Given the description of an element on the screen output the (x, y) to click on. 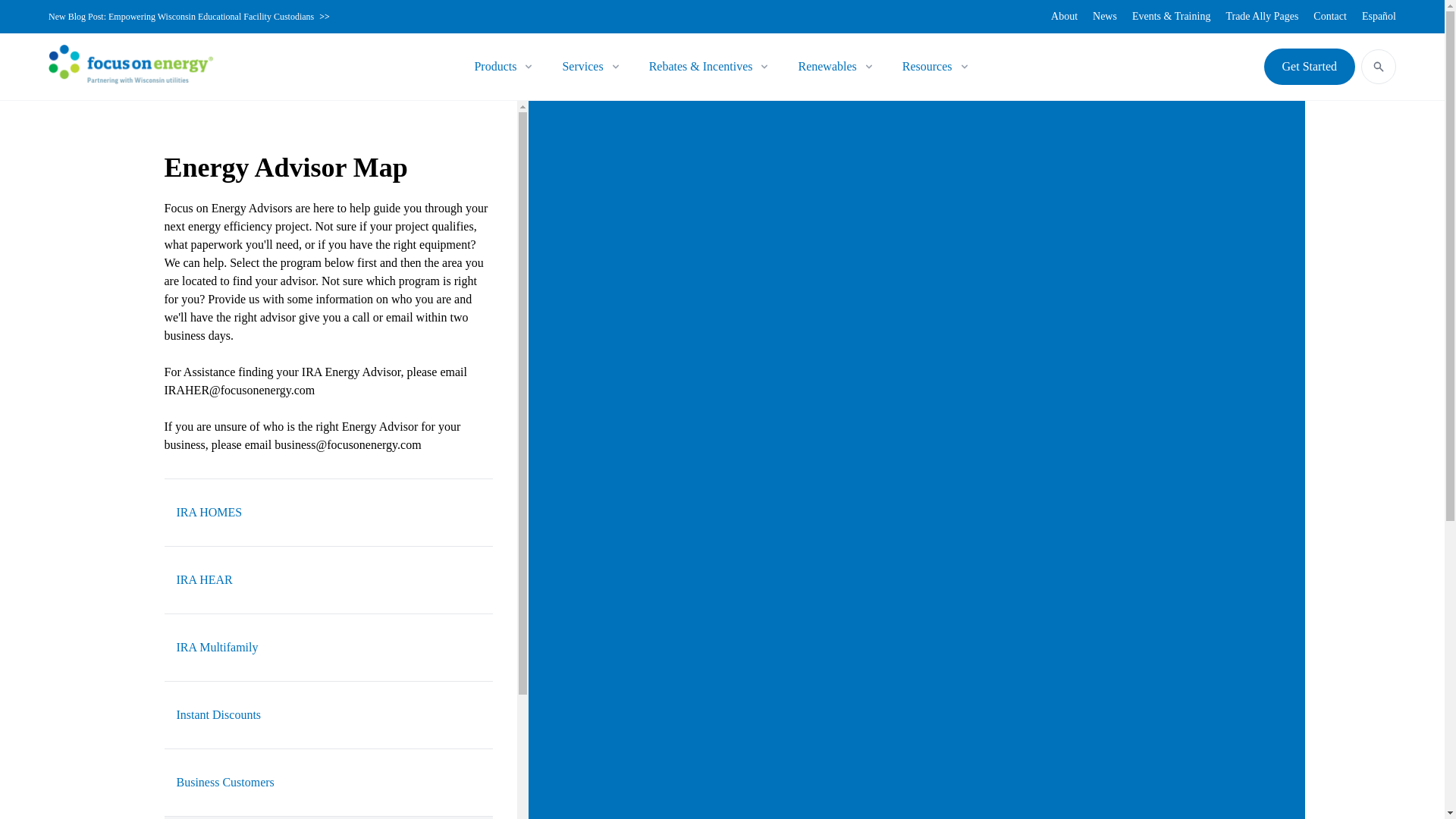
About (1064, 16)
Contact (1329, 16)
Products (495, 66)
Services (582, 66)
Trade Ally Pages (1261, 16)
News (1104, 16)
